Given the description of an element on the screen output the (x, y) to click on. 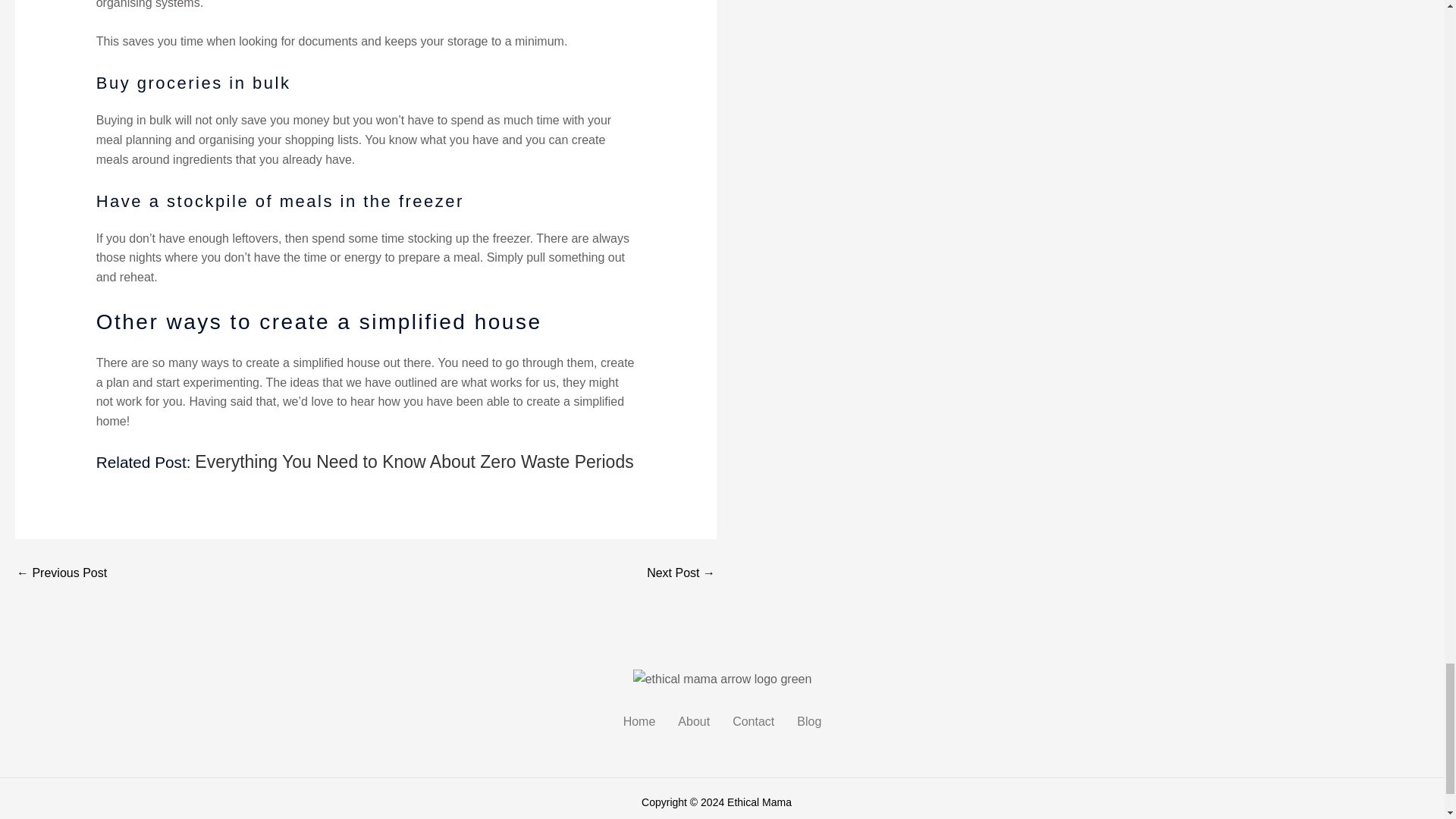
Contact (753, 721)
Blog (809, 721)
Non-toxic couches and sofas that keep your family safe (680, 573)
6 Best and Safest Non-Toxic Bath Toys for Babies! (61, 573)
Everything You Need to Know About Zero Waste Periods (414, 461)
About (693, 721)
Home (638, 721)
